Given the description of an element on the screen output the (x, y) to click on. 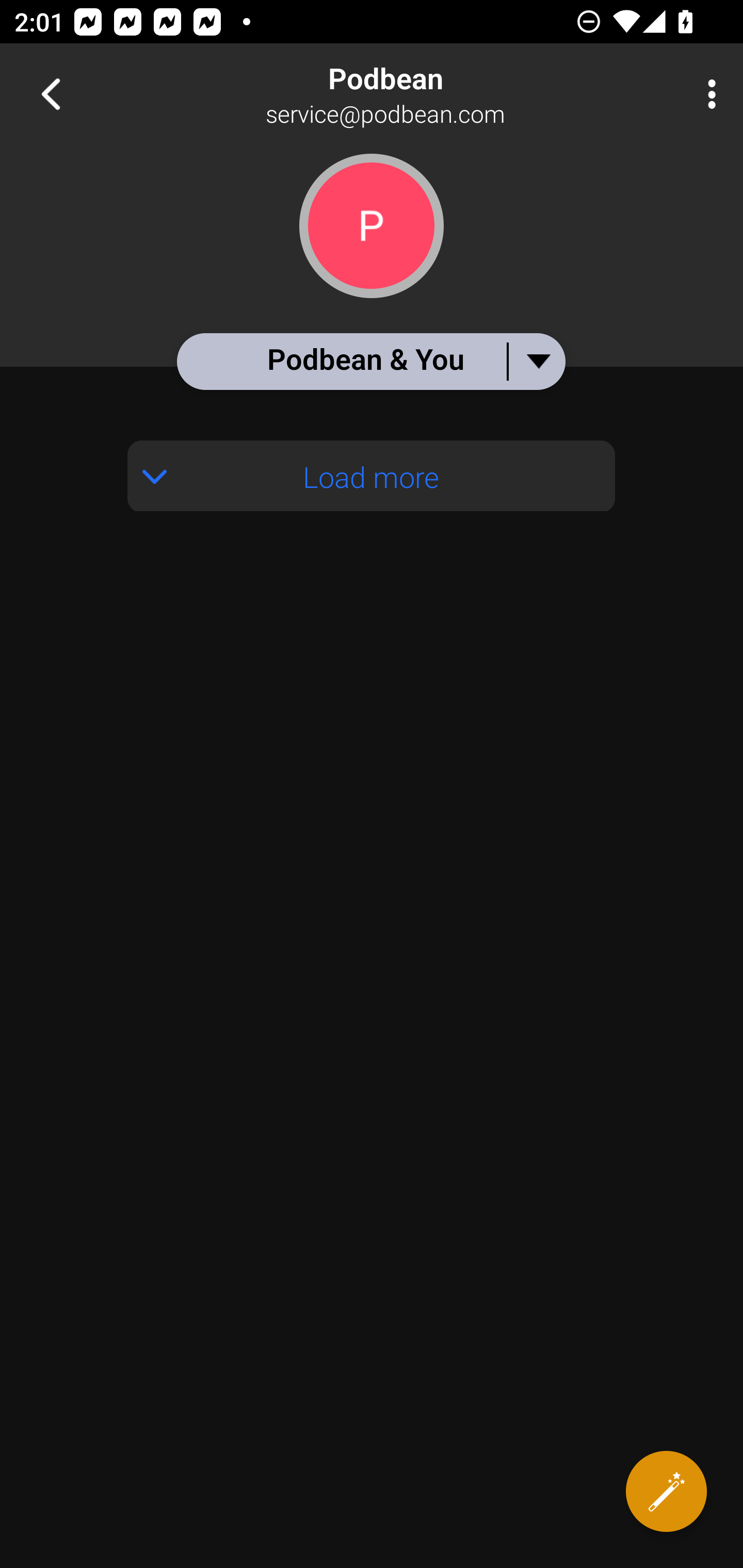
Navigate up (50, 93)
Podbean service@podbean.com (436, 93)
More Options (706, 93)
Podbean & You (370, 361)
Load more (371, 475)
